Given the description of an element on the screen output the (x, y) to click on. 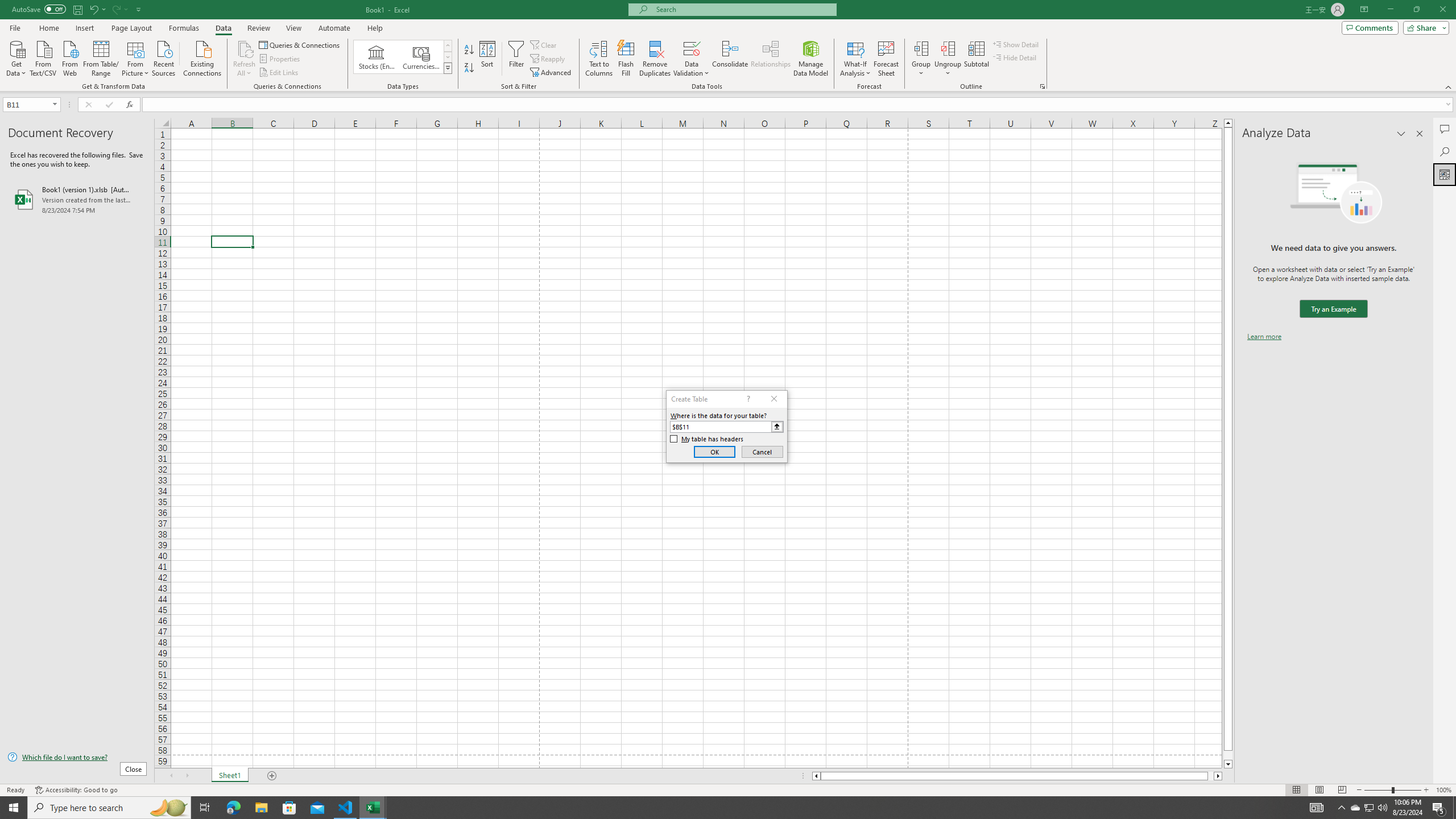
Advanced... (551, 72)
Reapply (548, 58)
AutomationID: ConvertToLinkedEntity (403, 56)
Stocks (English) (375, 56)
From Table/Range (100, 57)
